Given the description of an element on the screen output the (x, y) to click on. 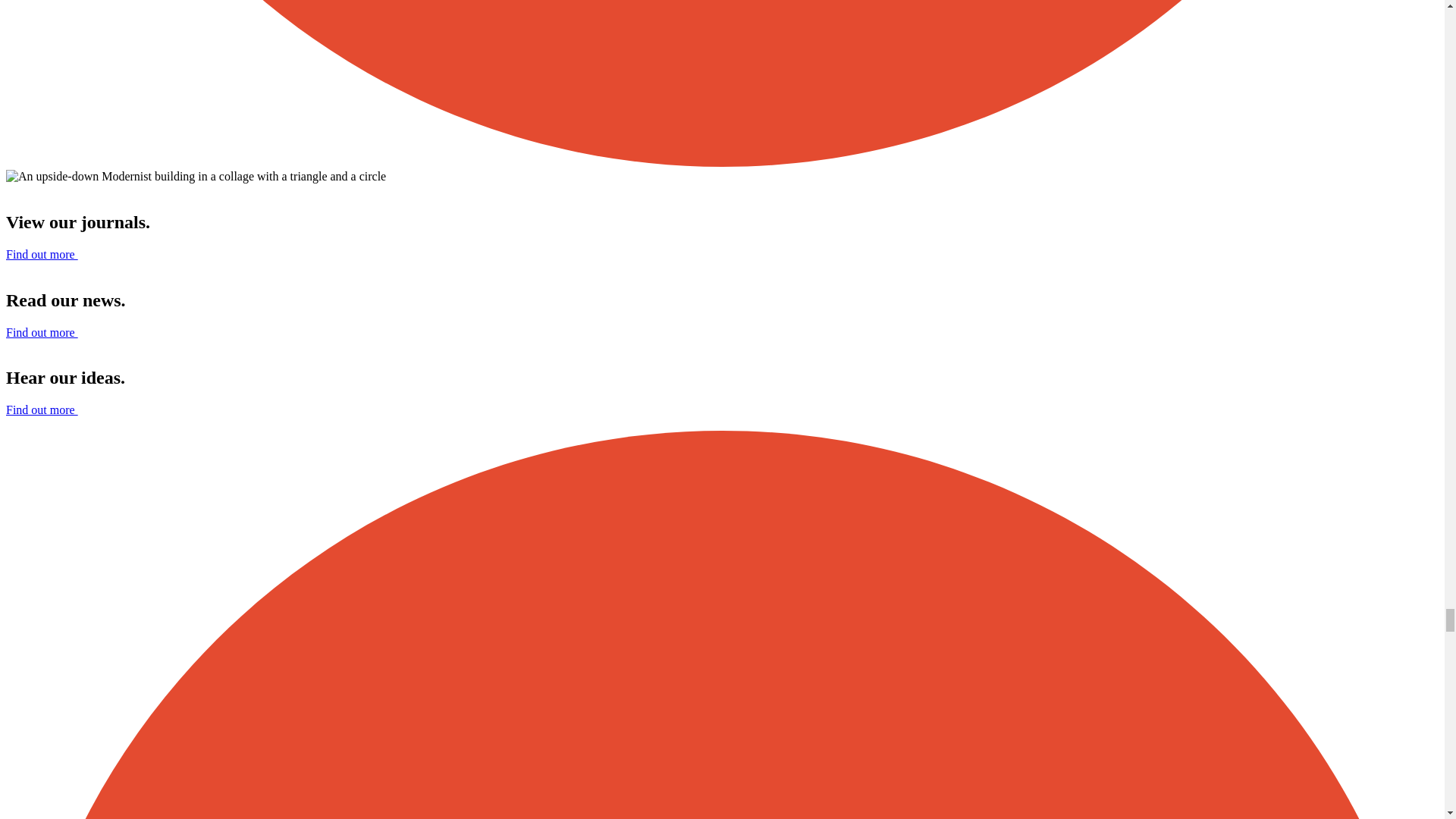
Find out more (41, 332)
Find out more (41, 409)
Find out more (41, 254)
